Given the description of an element on the screen output the (x, y) to click on. 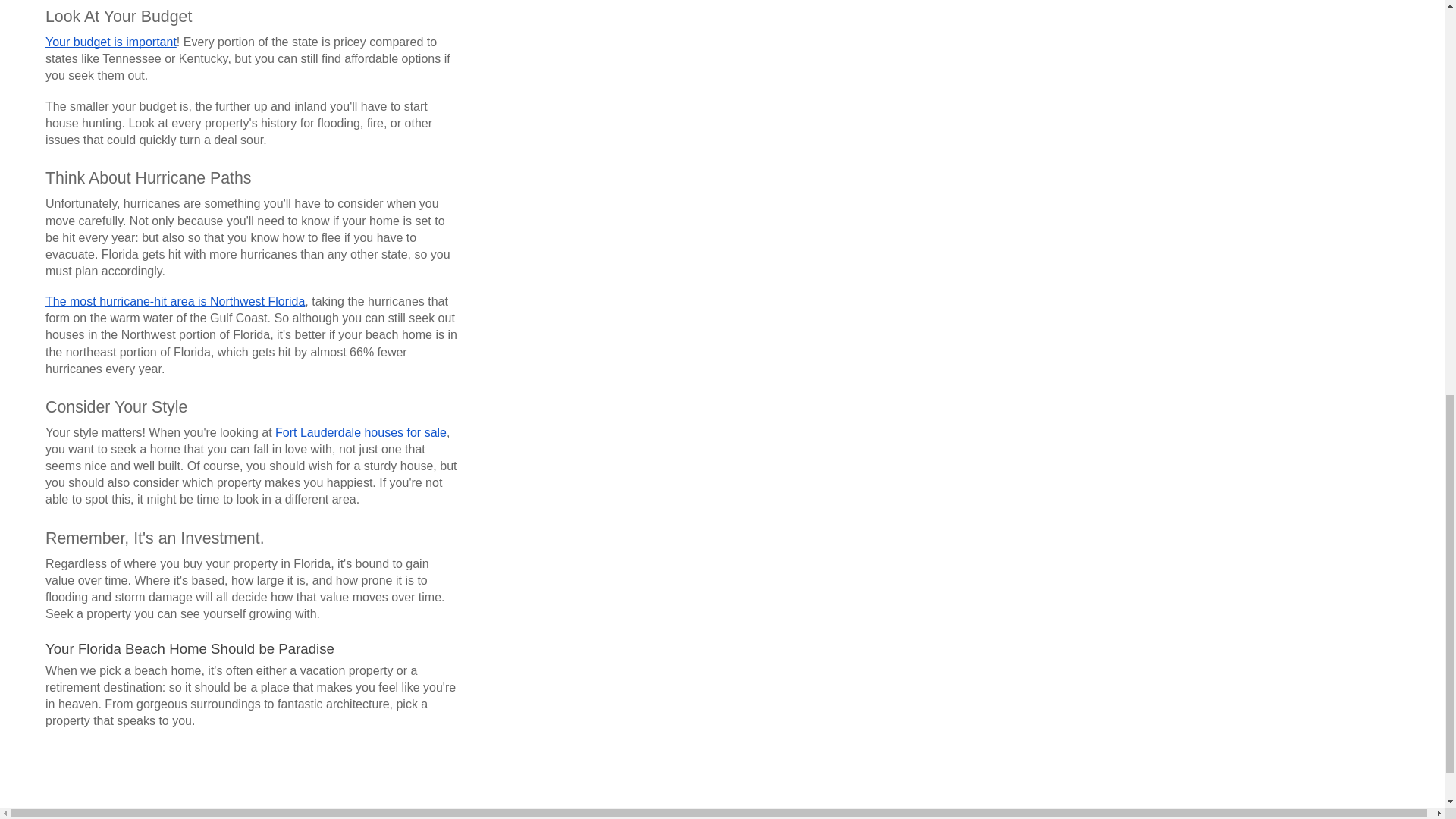
Fort Lauderdale houses for sale (360, 432)
The most hurricane-hit area is Northwest Florida (174, 301)
Your budget is important (110, 42)
